Given the description of an element on the screen output the (x, y) to click on. 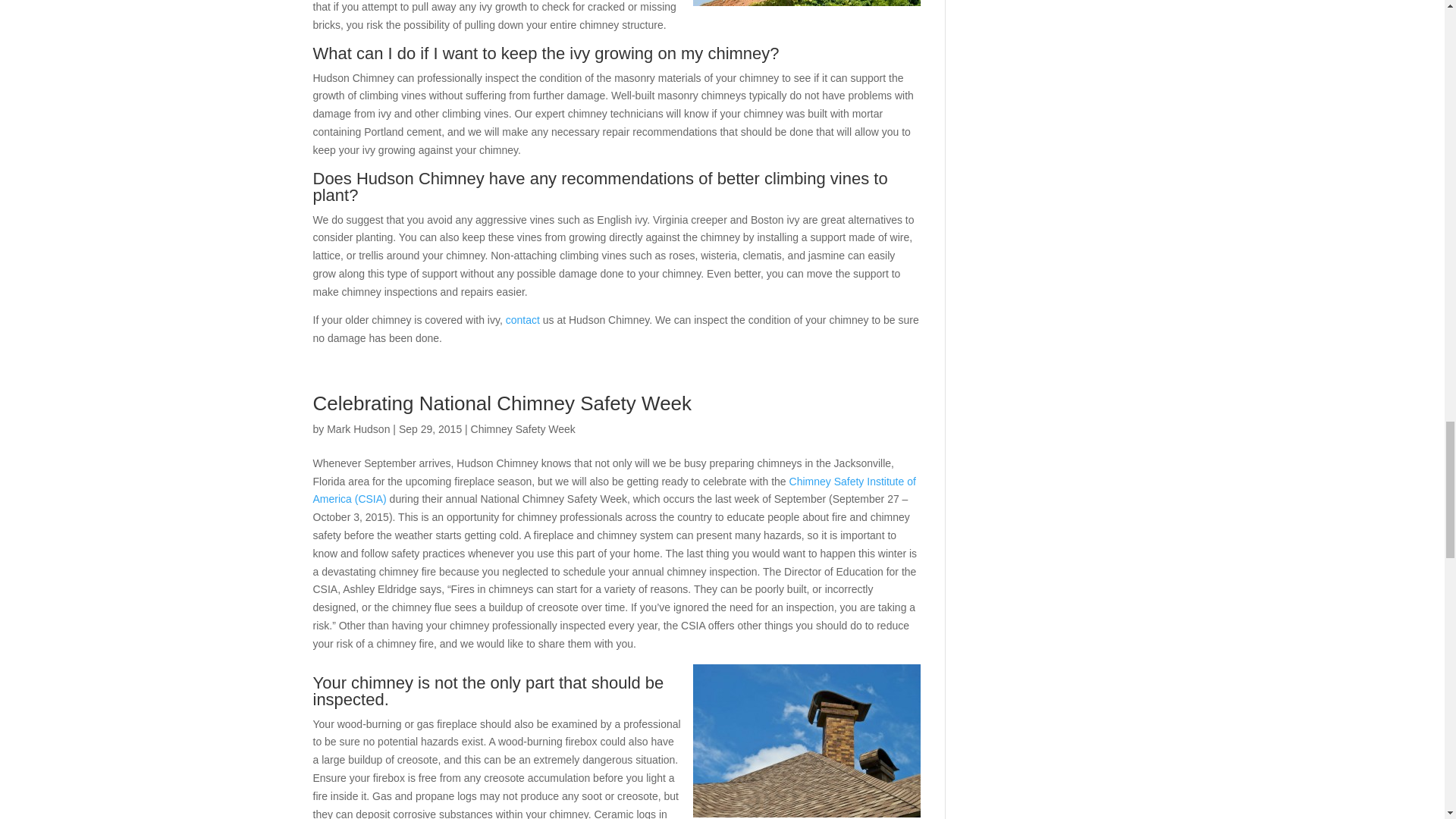
Posts by Mark Hudson (358, 428)
